Given the description of an element on the screen output the (x, y) to click on. 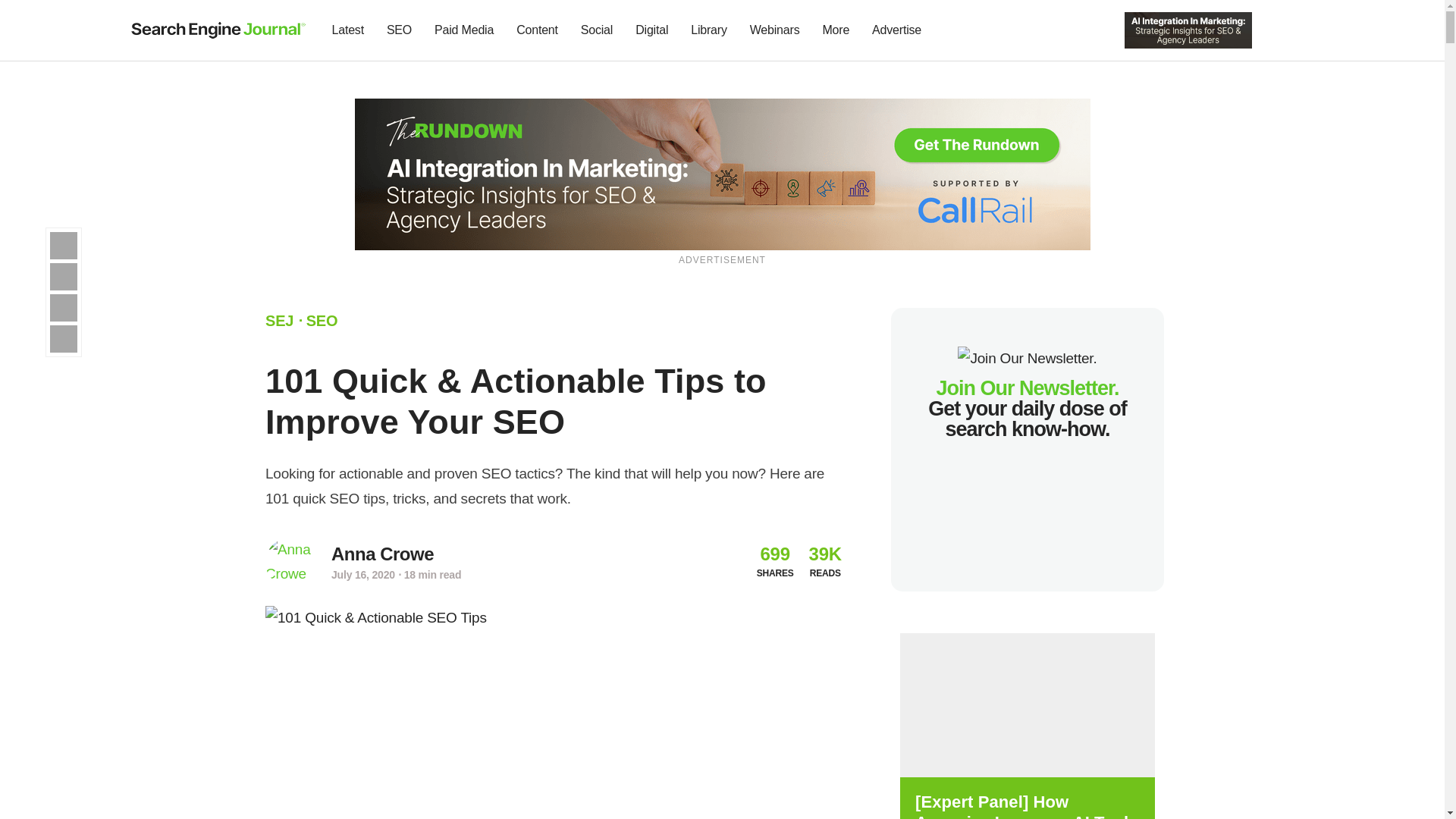
Paid Media (464, 30)
Go to Author Page (289, 562)
Go to Author Page (382, 553)
Latest (347, 30)
Get The Rundown (722, 172)
Get The Rundown (1187, 28)
Subscribe to our Newsletter (1277, 30)
